Given the description of an element on the screen output the (x, y) to click on. 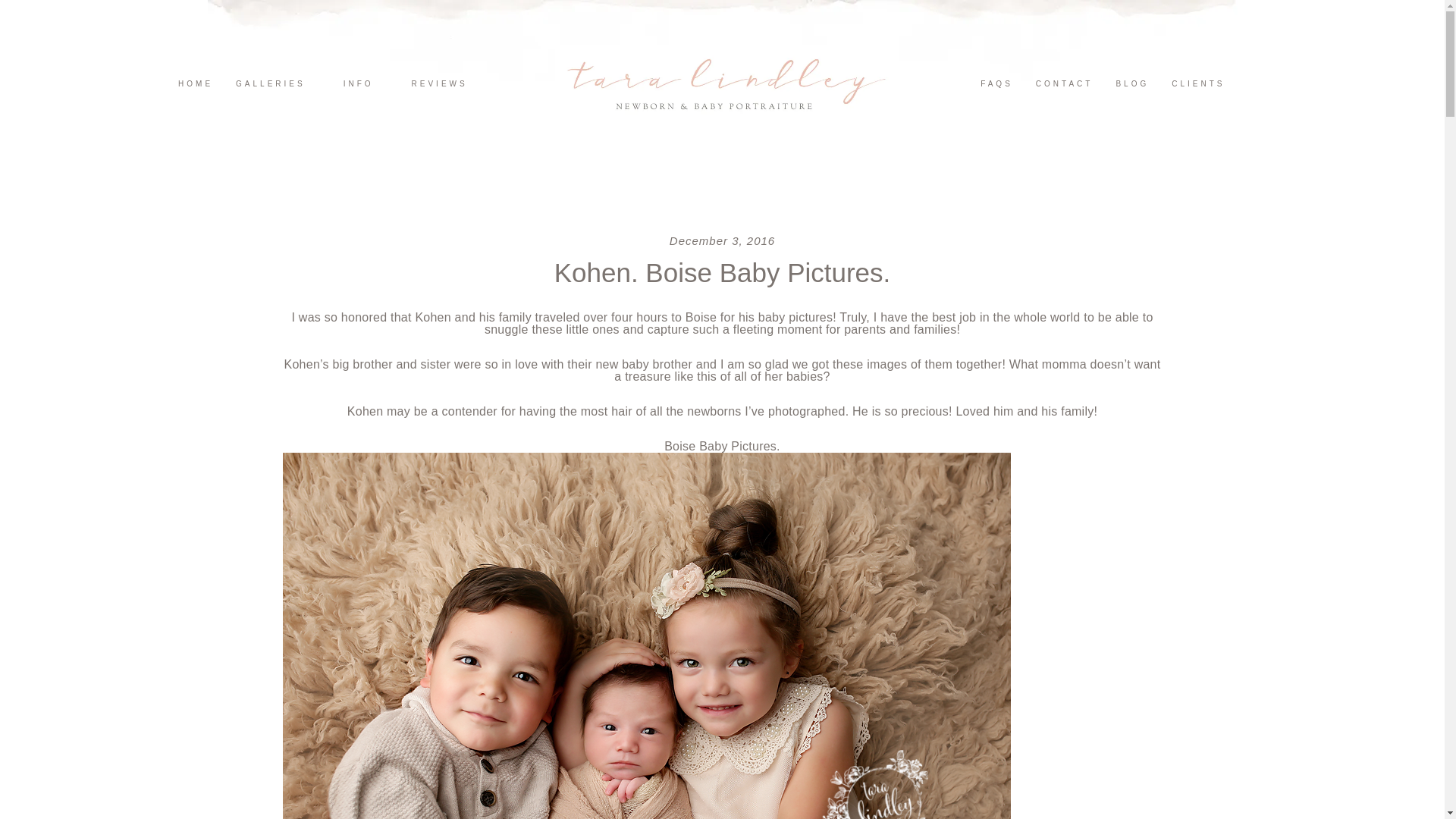
Reviews (440, 83)
REVIEWS (440, 83)
INFO (358, 83)
FAQS (996, 83)
CLIENTS (1197, 83)
CONTACT (1063, 83)
Home (195, 83)
Info (358, 83)
HOME (195, 83)
BLOG (1132, 83)
Galleries (270, 83)
GALLERIES (270, 83)
